Given the description of an element on the screen output the (x, y) to click on. 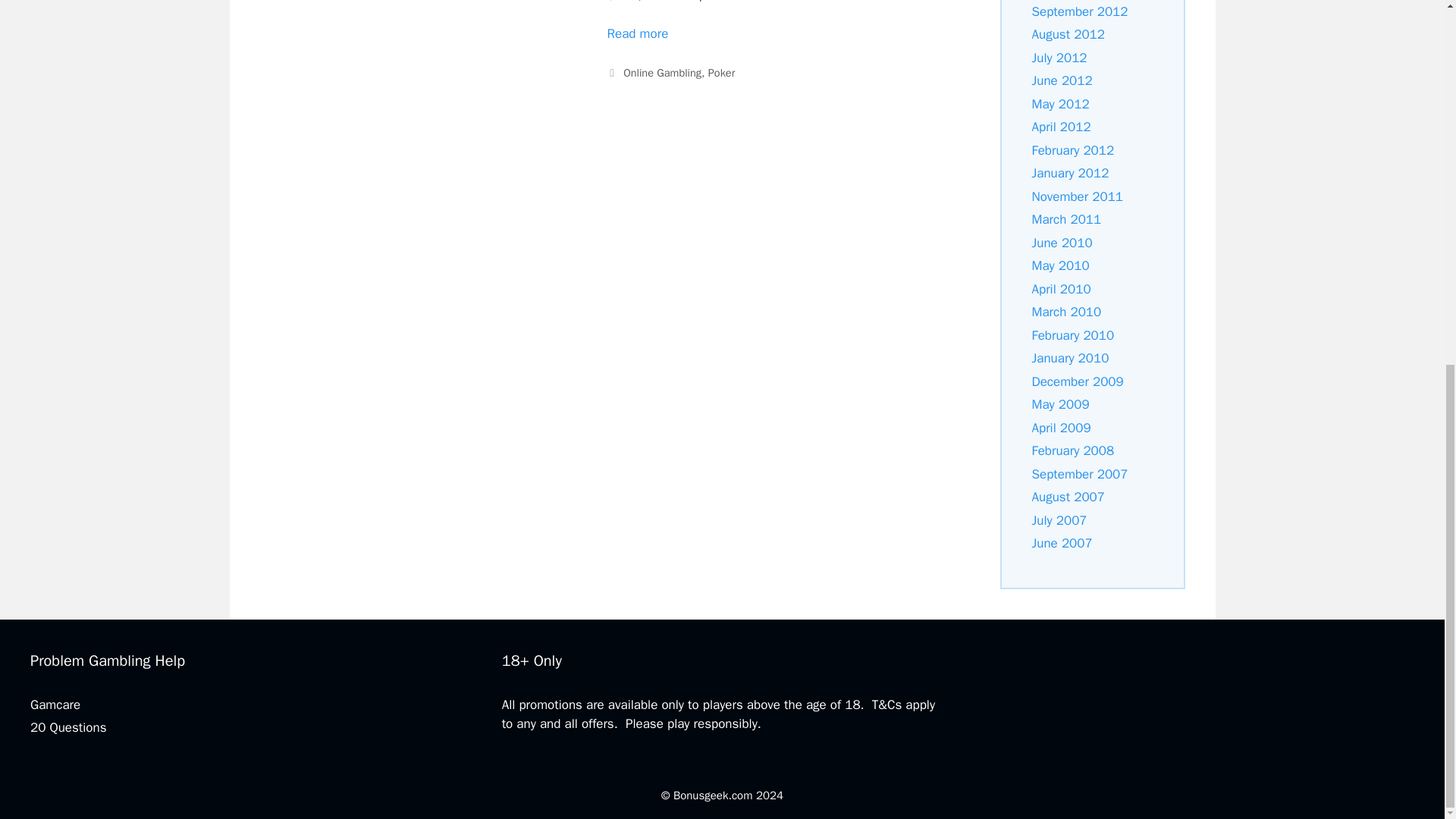
April 2012 (1060, 126)
January 2012 (1069, 172)
June 2010 (1061, 242)
Blind Poker Player Makes The Money In WSOP (637, 33)
July 2012 (1058, 57)
March 2011 (1065, 219)
November 2011 (1076, 196)
Read more (637, 33)
February 2012 (1071, 150)
May 2010 (1059, 265)
August 2012 (1066, 34)
June 2012 (1061, 80)
September 2012 (1078, 11)
Poker (721, 72)
May 2012 (1059, 104)
